Given the description of an element on the screen output the (x, y) to click on. 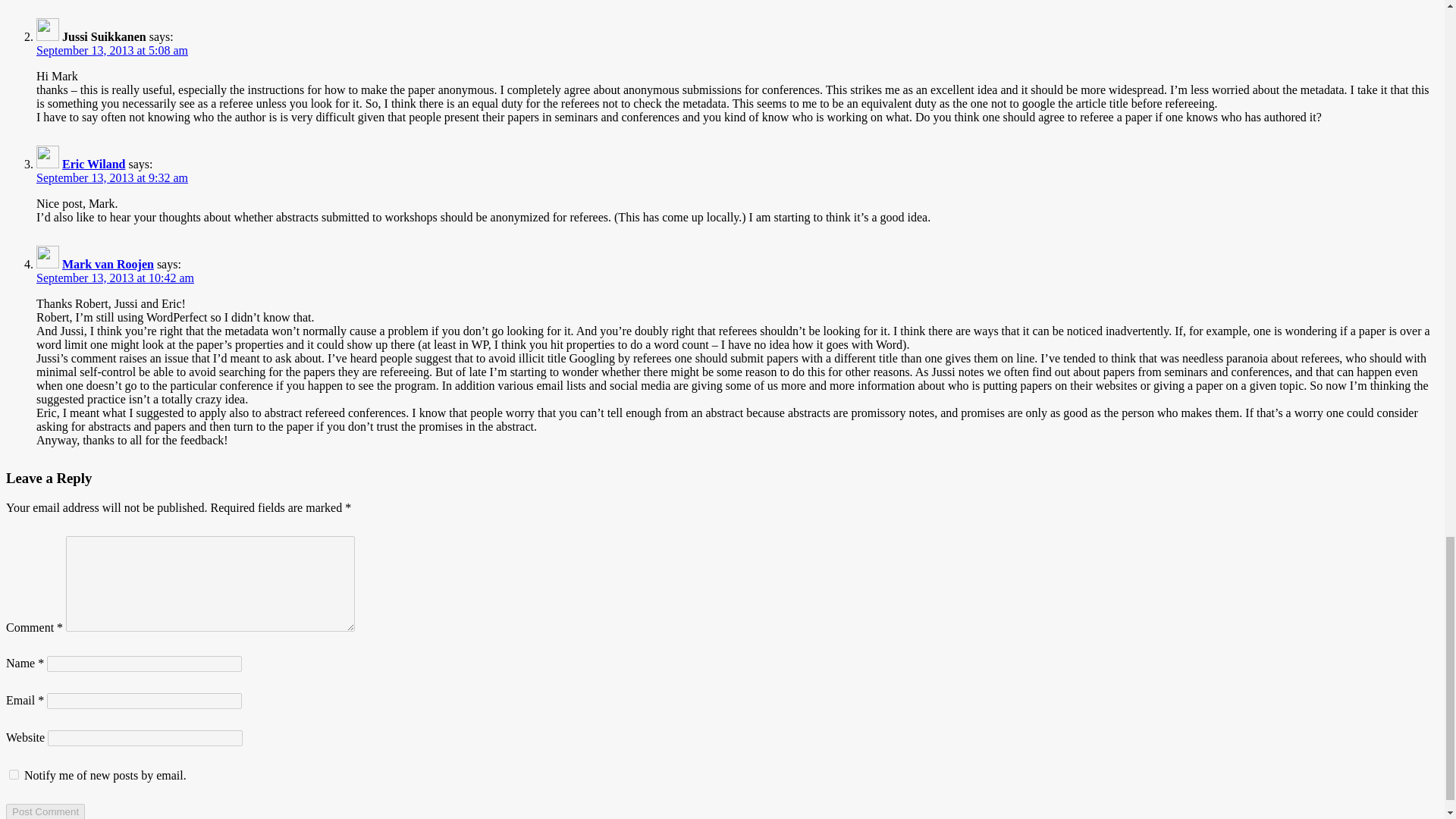
subscribe (13, 774)
Post Comment (44, 811)
